Given the description of an element on the screen output the (x, y) to click on. 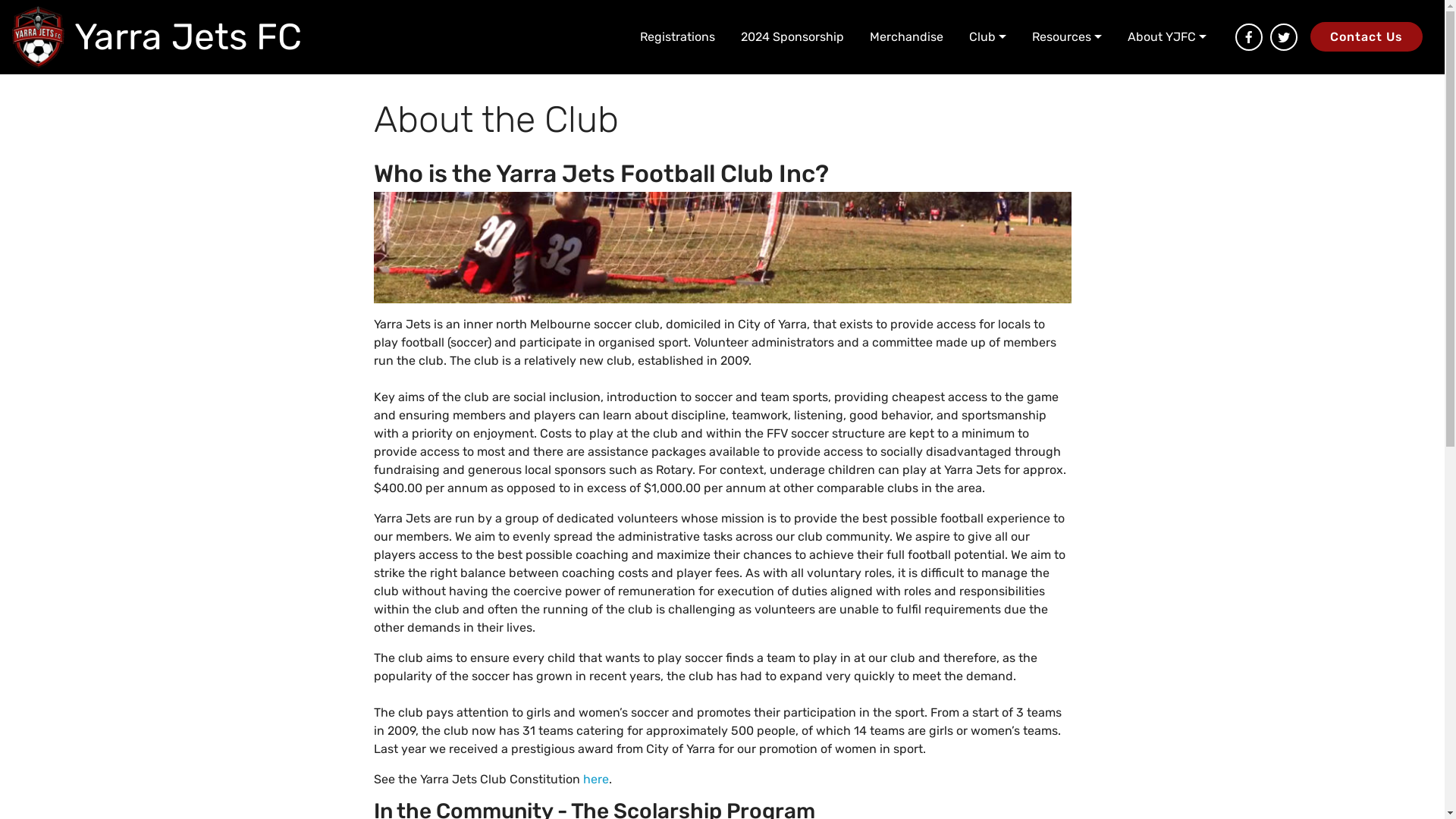
Contact Us Element type: text (1366, 36)
Club Element type: text (987, 36)
Resources Element type: text (1066, 36)
Yarra Jets FC Element type: text (187, 36)
2024 Sponsorship Element type: text (792, 36)
Registrations Element type: text (676, 36)
Merchandise Element type: text (906, 36)
here Element type: text (595, 778)
About YJFC Element type: text (1166, 36)
Yarra Jets FC Element type: hover (38, 37)
